Given the description of an element on the screen output the (x, y) to click on. 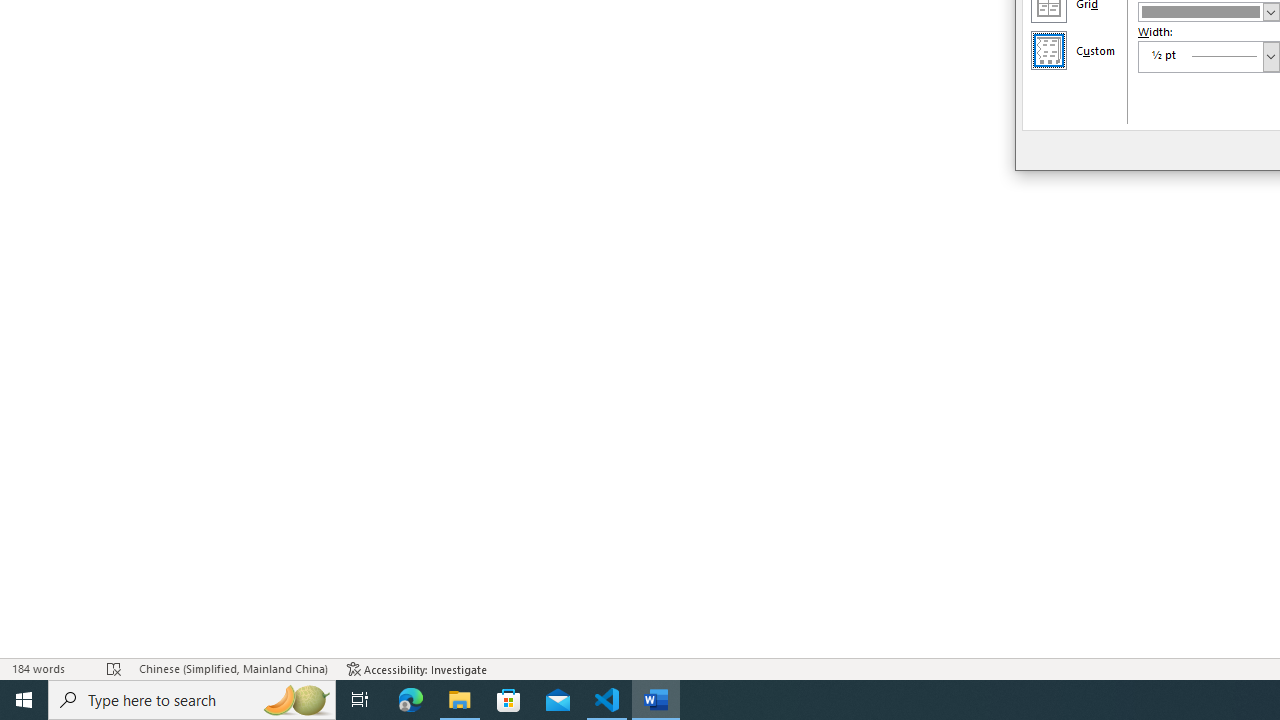
Search highlights icon opens search home window (295, 699)
Word - 1 running window (656, 699)
Spelling and Grammar Check Errors (114, 668)
File Explorer - 1 running window (460, 699)
Word Count 184 words (49, 668)
Microsoft Store (509, 699)
Task View (359, 699)
Microsoft Edge (411, 699)
Custom (1048, 49)
Language Chinese (Simplified, Mainland China) (232, 668)
Start (24, 699)
Visual Studio Code - 1 running window (607, 699)
Accessibility Checker Accessibility: Investigate (417, 668)
Type here to search (191, 699)
